Given the description of an element on the screen output the (x, y) to click on. 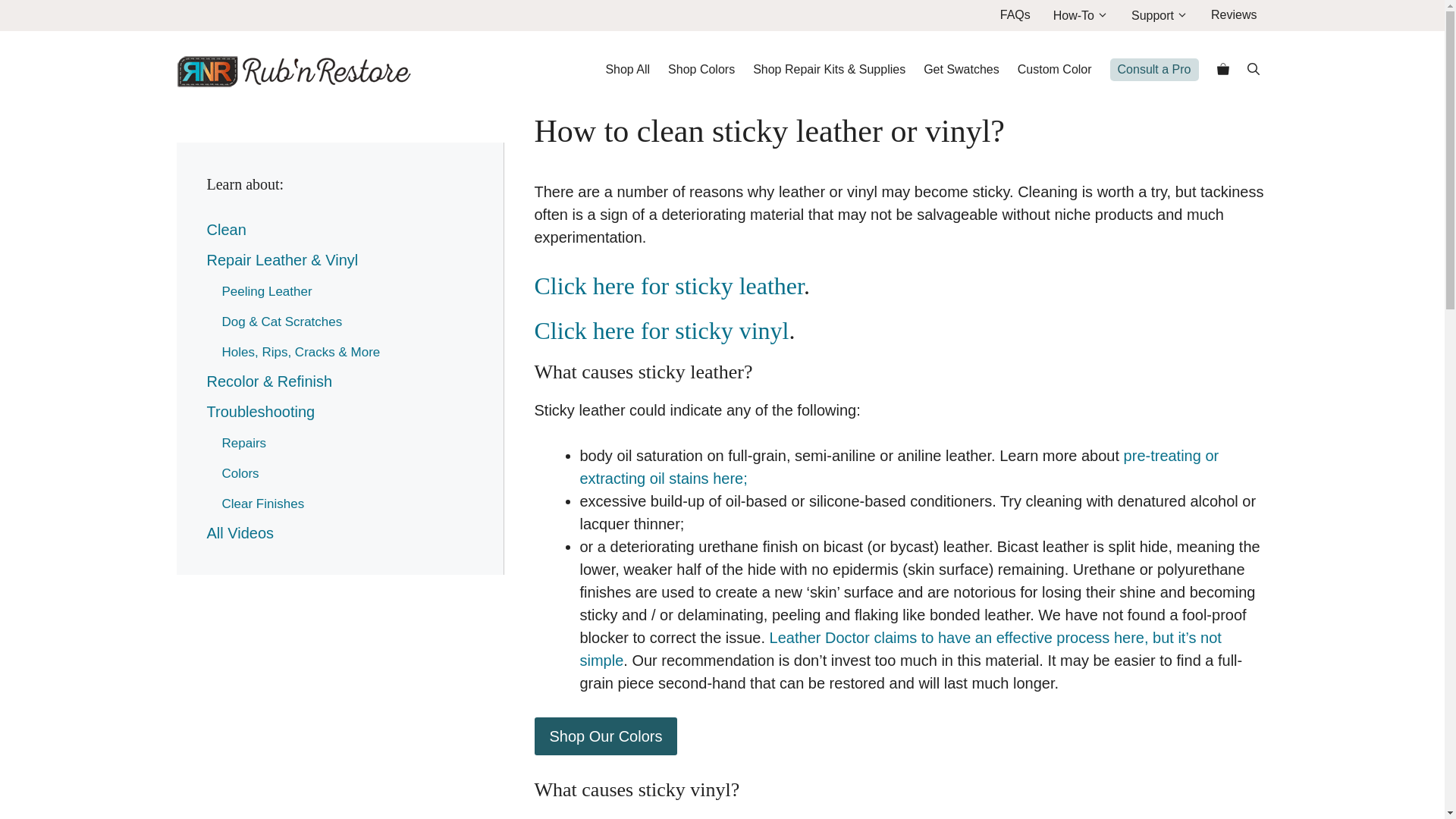
Reviews (1233, 15)
FAQs (1015, 15)
How-To (1080, 15)
Get Swatches (960, 71)
Shop All (627, 71)
Support (1159, 15)
Shop Colors (701, 71)
Click here for sticky leather (668, 285)
Custom Color (1054, 71)
Consult a Pro (1153, 68)
